Given the description of an element on the screen output the (x, y) to click on. 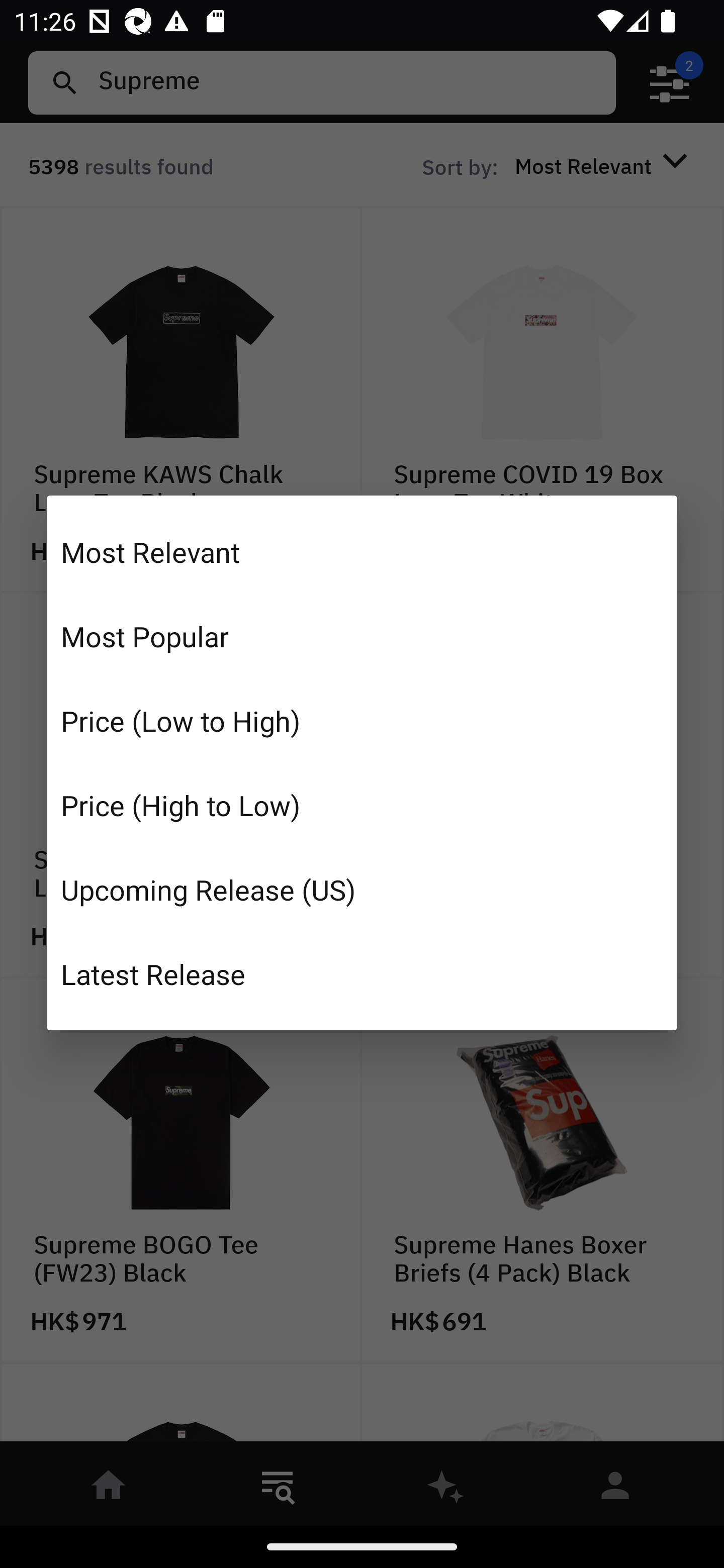
Most Relevant (361, 551)
Most Popular (361, 636)
Price (Low to High) (361, 720)
Price (High to Low) (361, 804)
Upcoming Release (US) (361, 888)
Latest Release (361, 973)
